Given the description of an element on the screen output the (x, y) to click on. 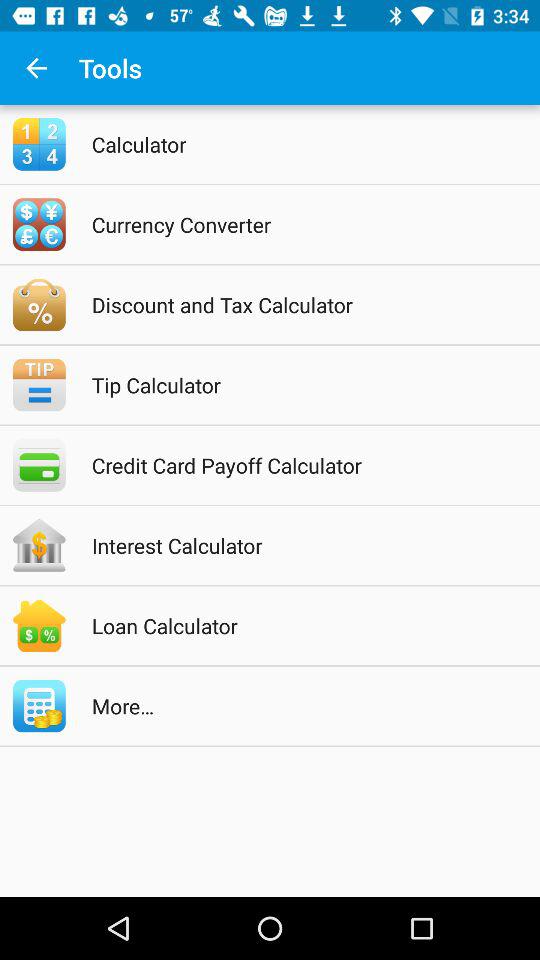
scroll to the interest calculator icon (295, 545)
